Given the description of an element on the screen output the (x, y) to click on. 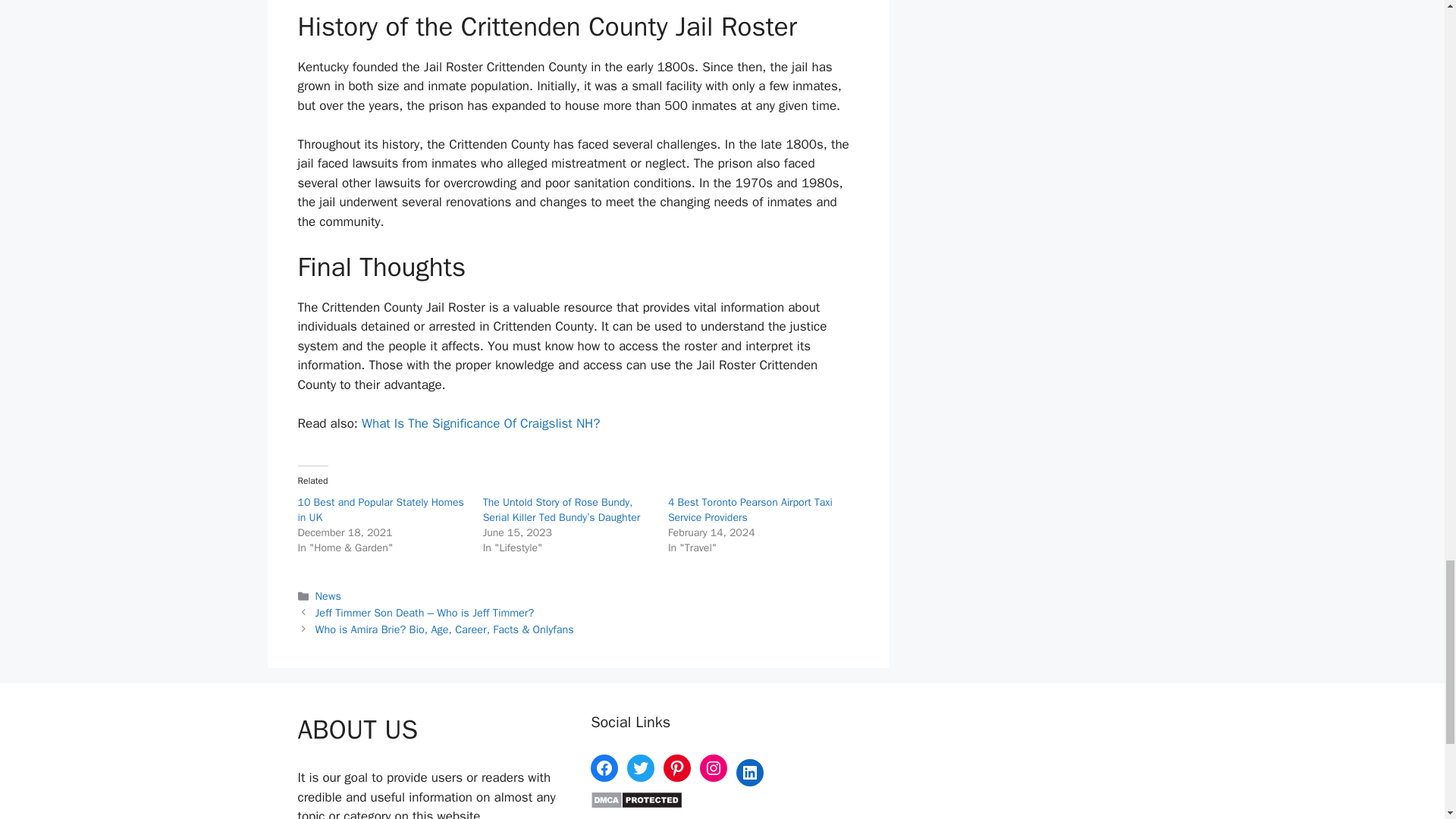
10 Best and Popular Stately Homes in UK (380, 510)
4 Best Toronto Pearson Airport Taxi Service Providers (750, 510)
10 Best and Popular Stately Homes in UK (380, 510)
DMCA.com Protection Status (636, 804)
What Is The Significance Of Craigslist NH? (480, 423)
News (327, 595)
4 Best Toronto Pearson Airport Taxi Service Providers (750, 510)
